Given the description of an element on the screen output the (x, y) to click on. 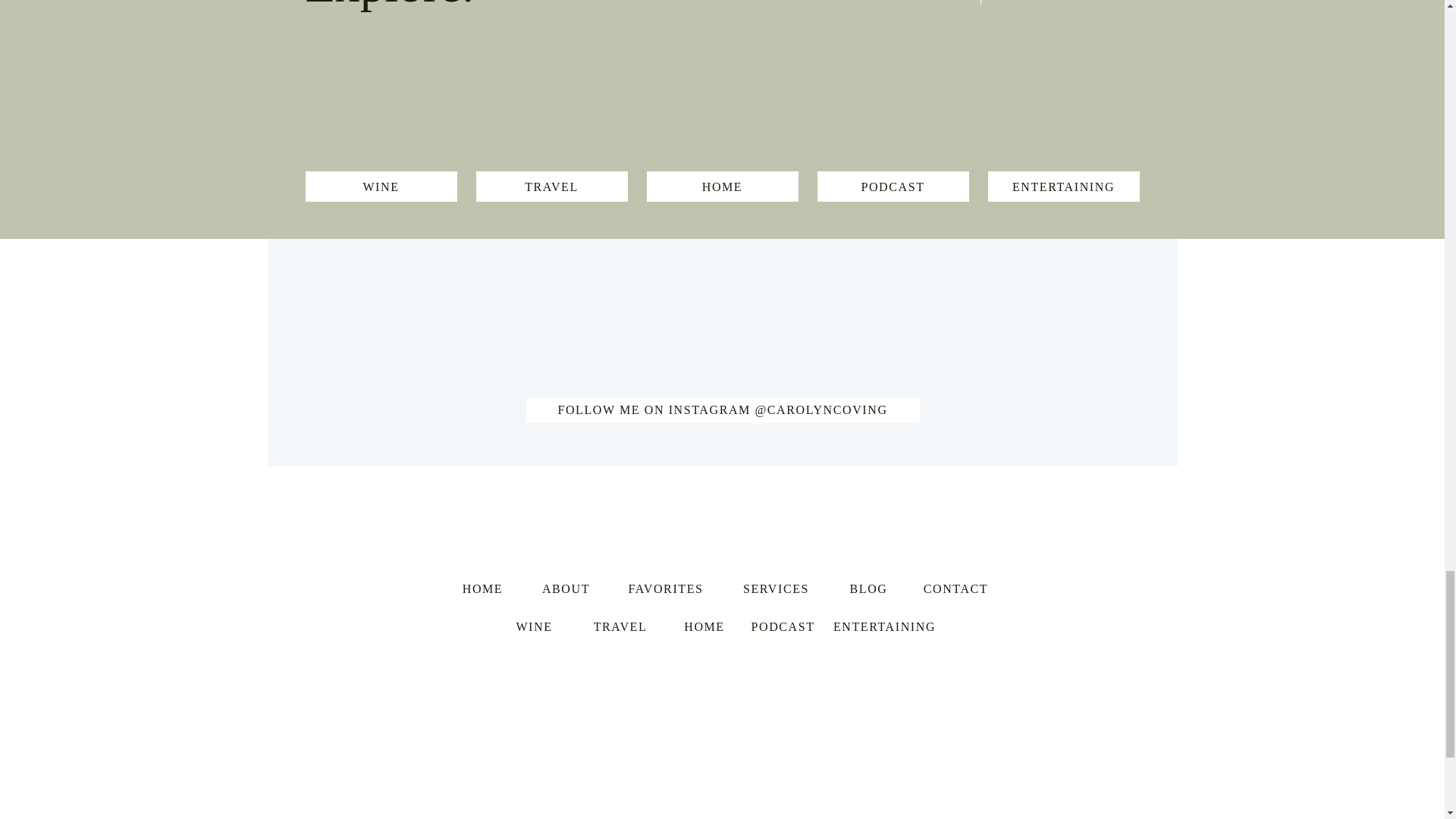
WINE (380, 186)
